Given the description of an element on the screen output the (x, y) to click on. 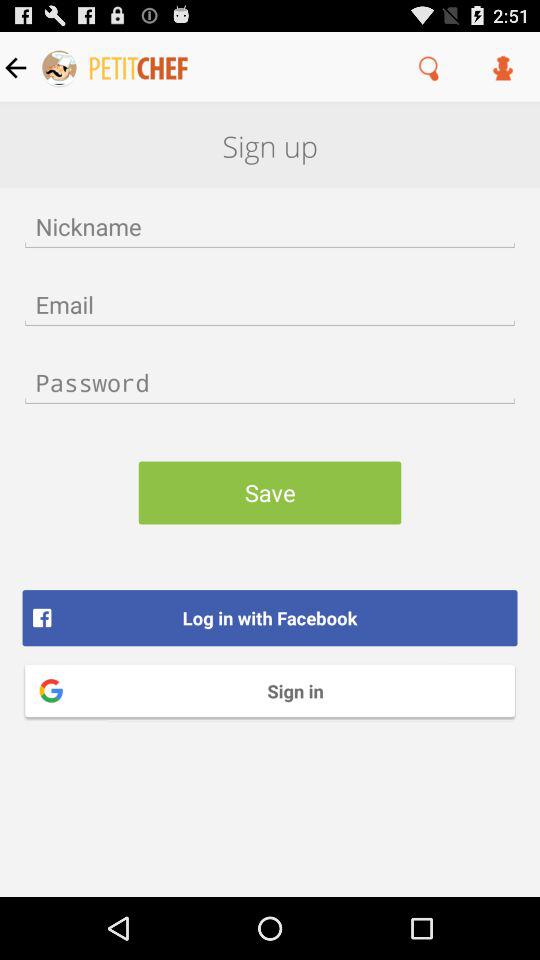
enter nickname field (269, 226)
